Given the description of an element on the screen output the (x, y) to click on. 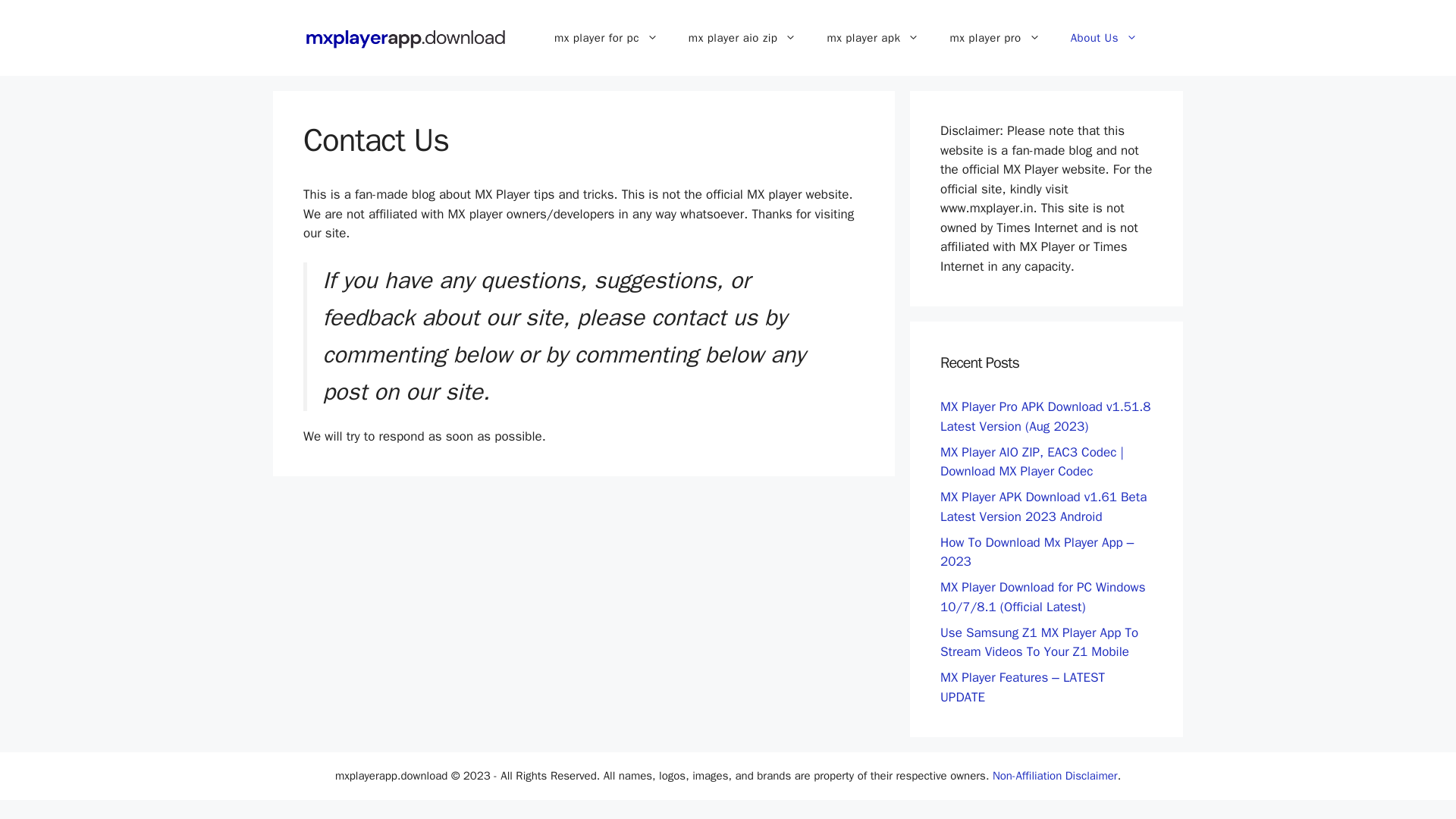
mx player apk (872, 37)
About Us (1104, 37)
mx player aio zip (742, 37)
mx player for pc (605, 37)
mx player pro (994, 37)
Non-Affiliation Disclaimer (1055, 775)
